Given the description of an element on the screen output the (x, y) to click on. 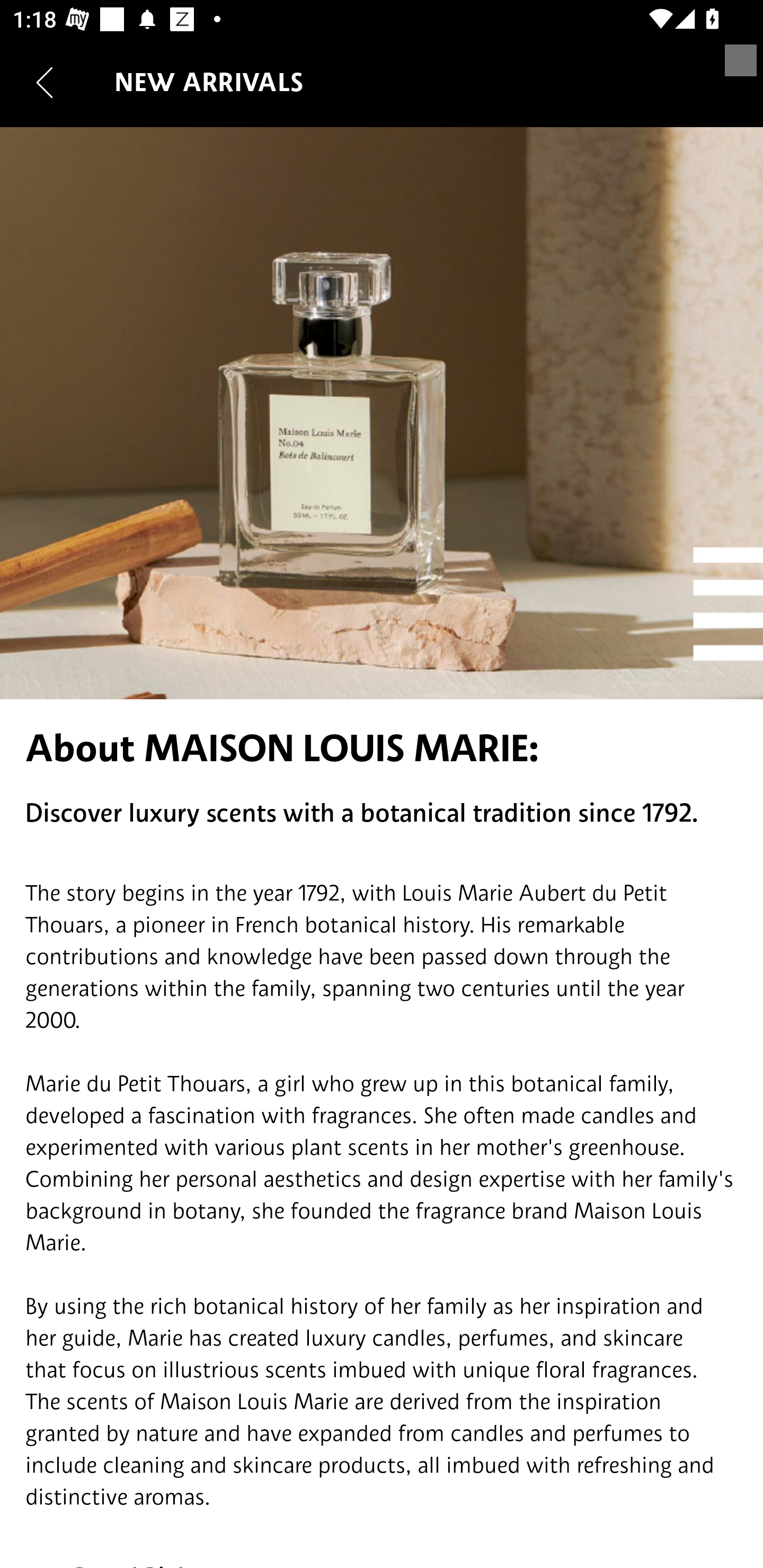
Navigate up (44, 82)
About MAISON LOUIS MARIE: (381, 747)
